Given the description of an element on the screen output the (x, y) to click on. 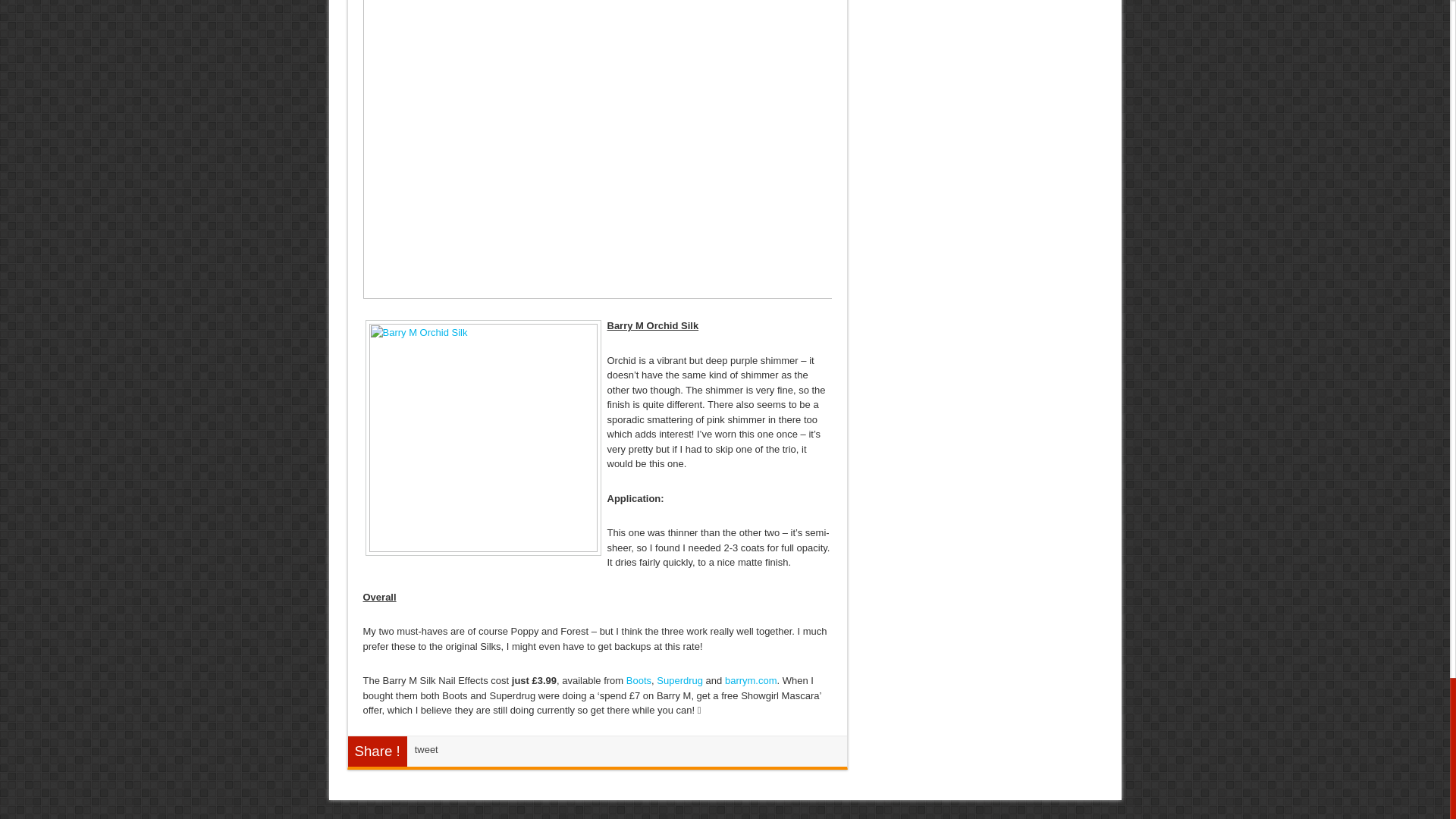
Boots (638, 680)
tweet (426, 749)
Superdrug (679, 680)
barrym.com (751, 680)
